Given the description of an element on the screen output the (x, y) to click on. 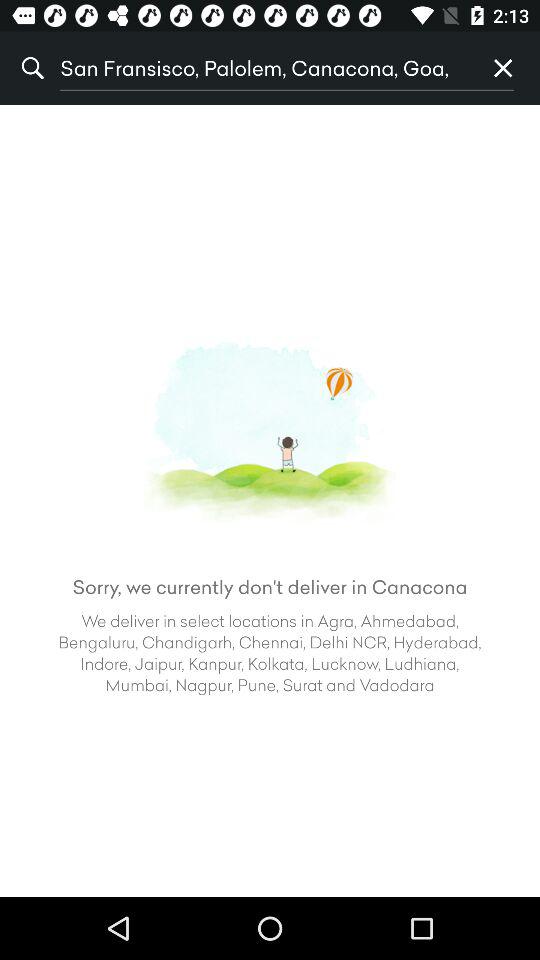
choose p item (503, 68)
